Given the description of an element on the screen output the (x, y) to click on. 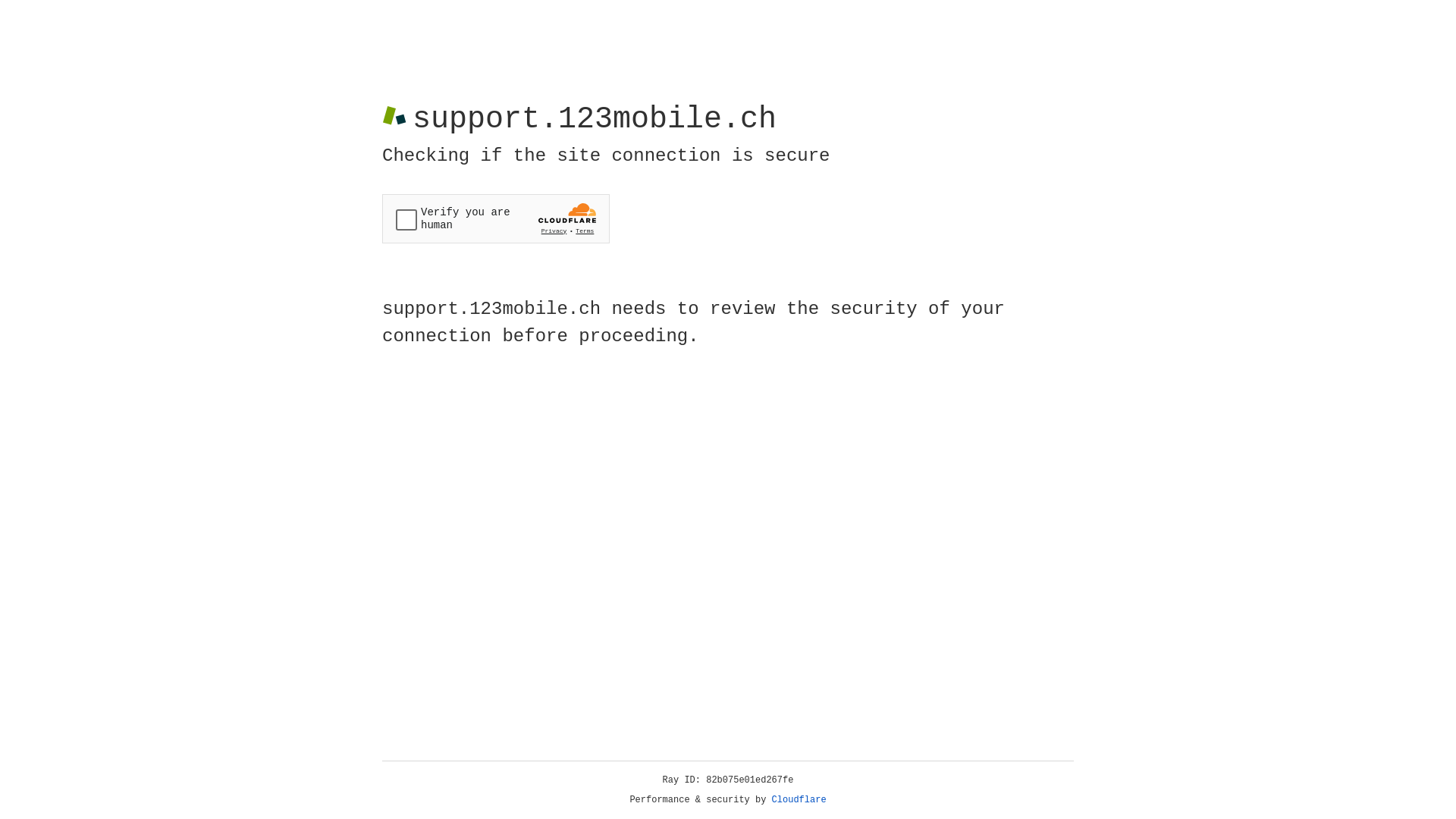
Cloudflare Element type: text (798, 799)
Widget containing a Cloudflare security challenge Element type: hover (495, 218)
